Given the description of an element on the screen output the (x, y) to click on. 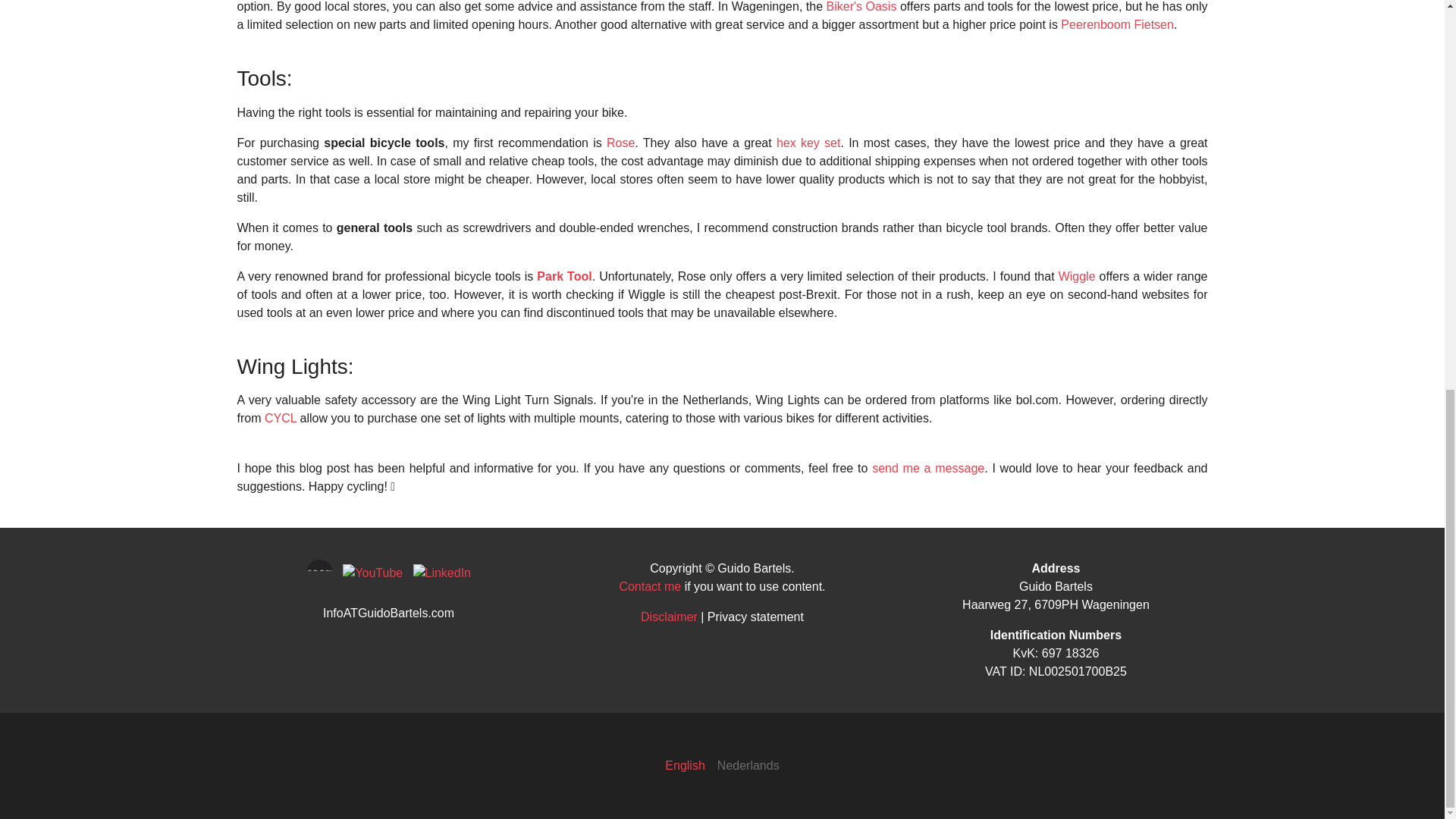
English (684, 765)
hex key set (808, 142)
Contact me (649, 585)
Disclaimer (668, 616)
Rose (620, 142)
Biker's Oasis (861, 6)
Wiggle (1077, 276)
send me a message (928, 468)
CYCL (280, 418)
